Given the description of an element on the screen output the (x, y) to click on. 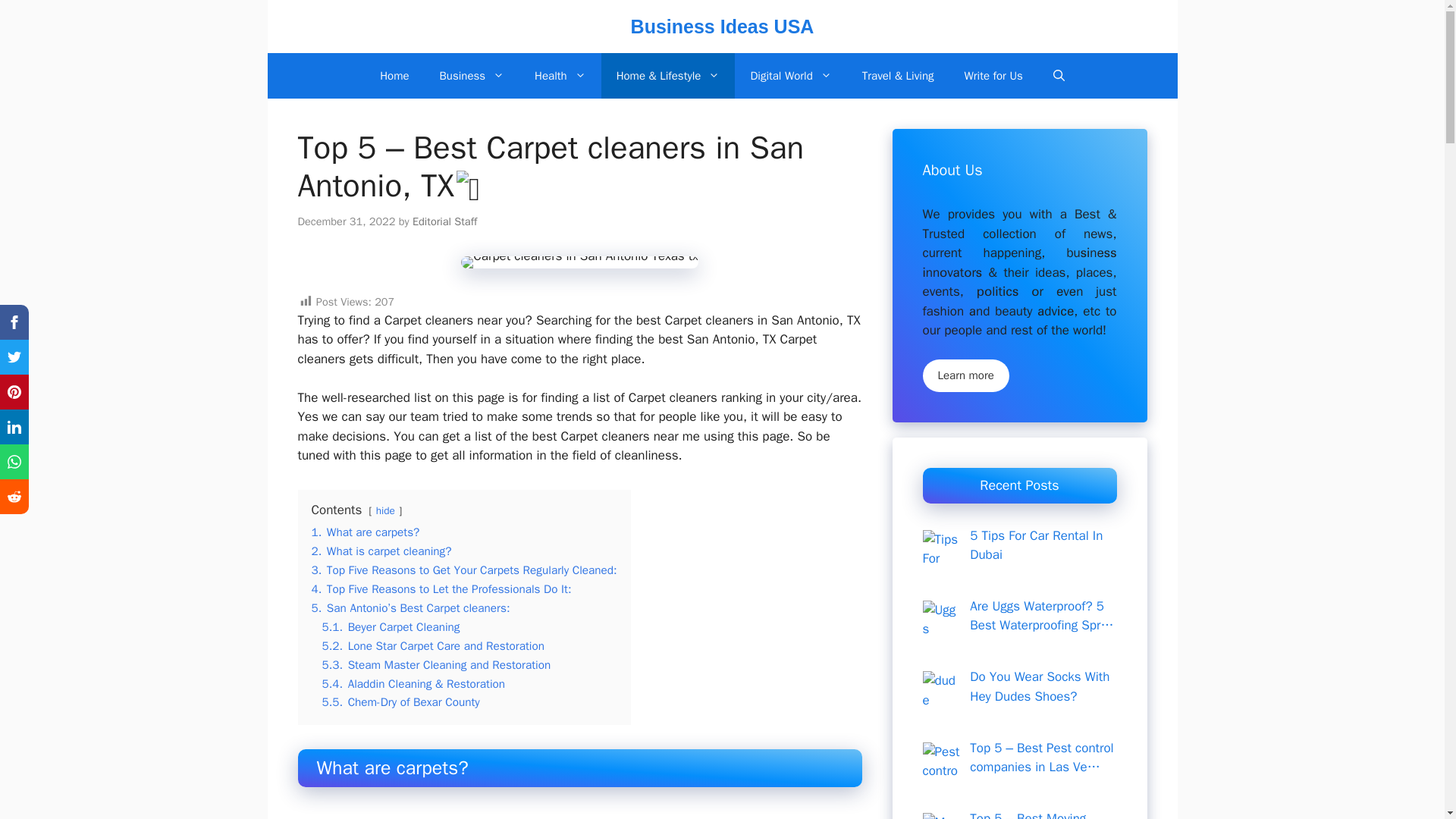
Write for Us (992, 75)
Business Ideas USA (721, 25)
Health (560, 75)
Business (472, 75)
Digital World (790, 75)
View all posts by Editorial Staff (444, 221)
Home (394, 75)
